Given the description of an element on the screen output the (x, y) to click on. 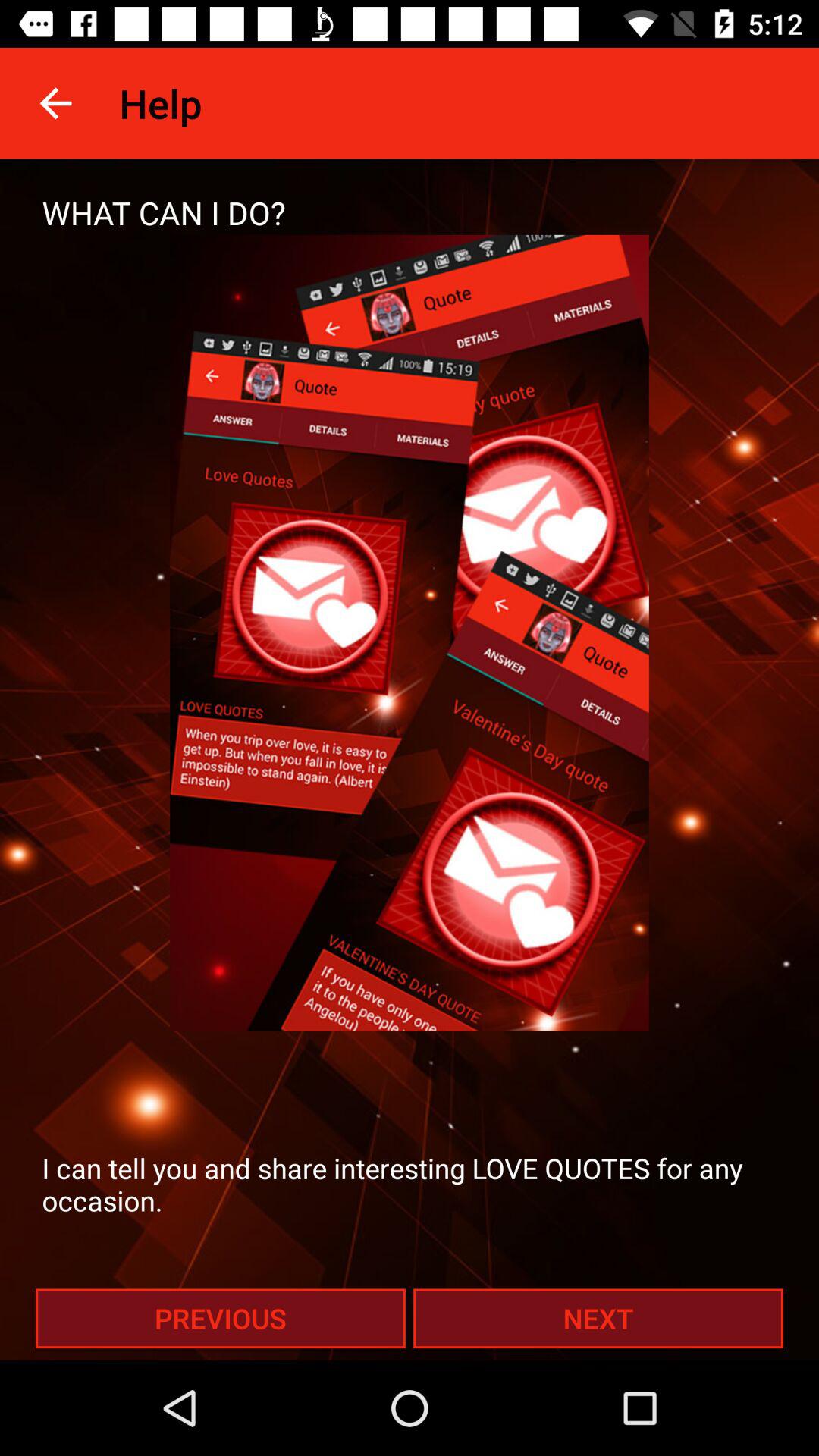
launch the item below the i can tell icon (598, 1318)
